Given the description of an element on the screen output the (x, y) to click on. 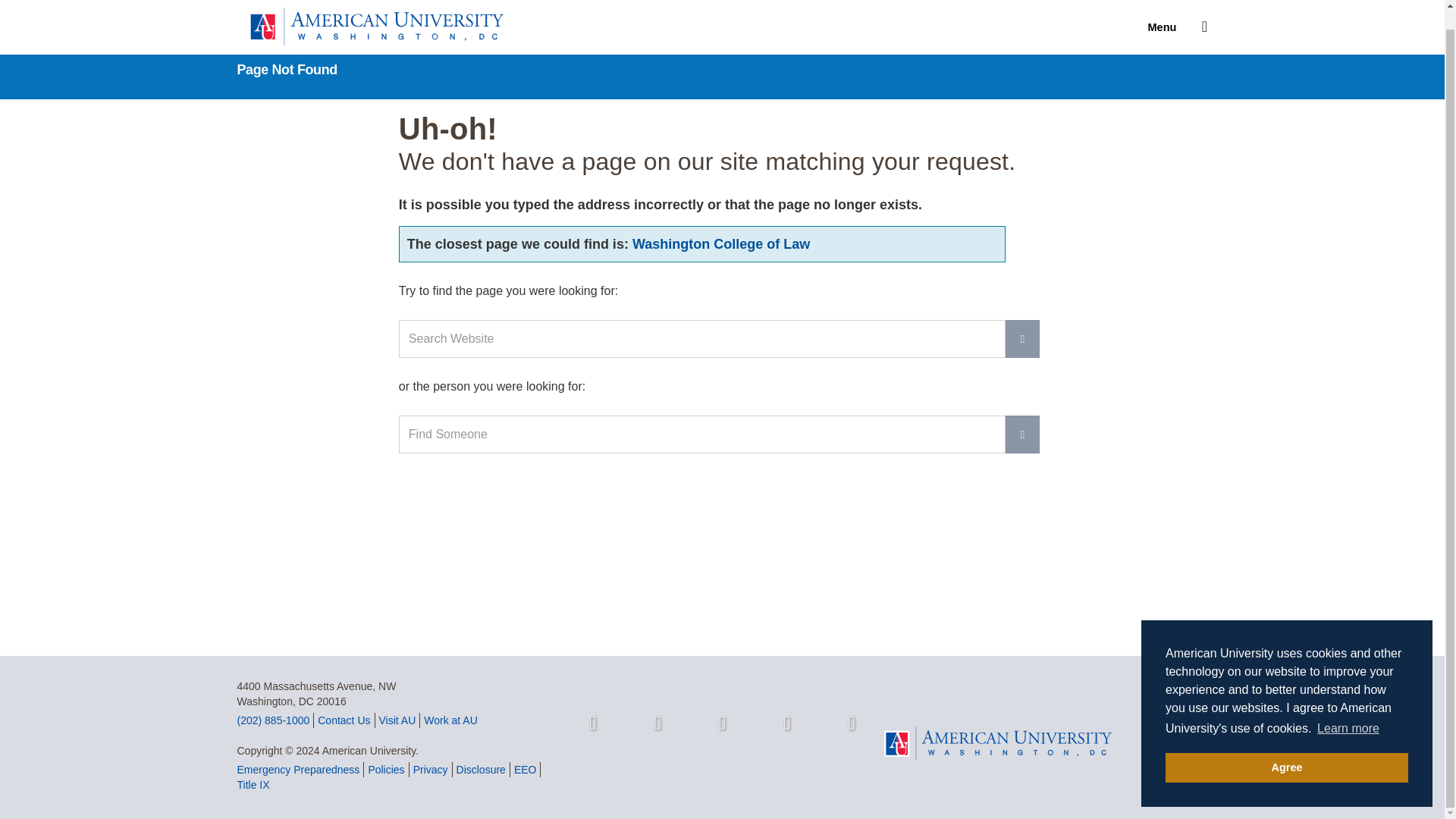
Agree (1286, 748)
Menu (1169, 10)
Learn more (1347, 709)
